Given the description of an element on the screen output the (x, y) to click on. 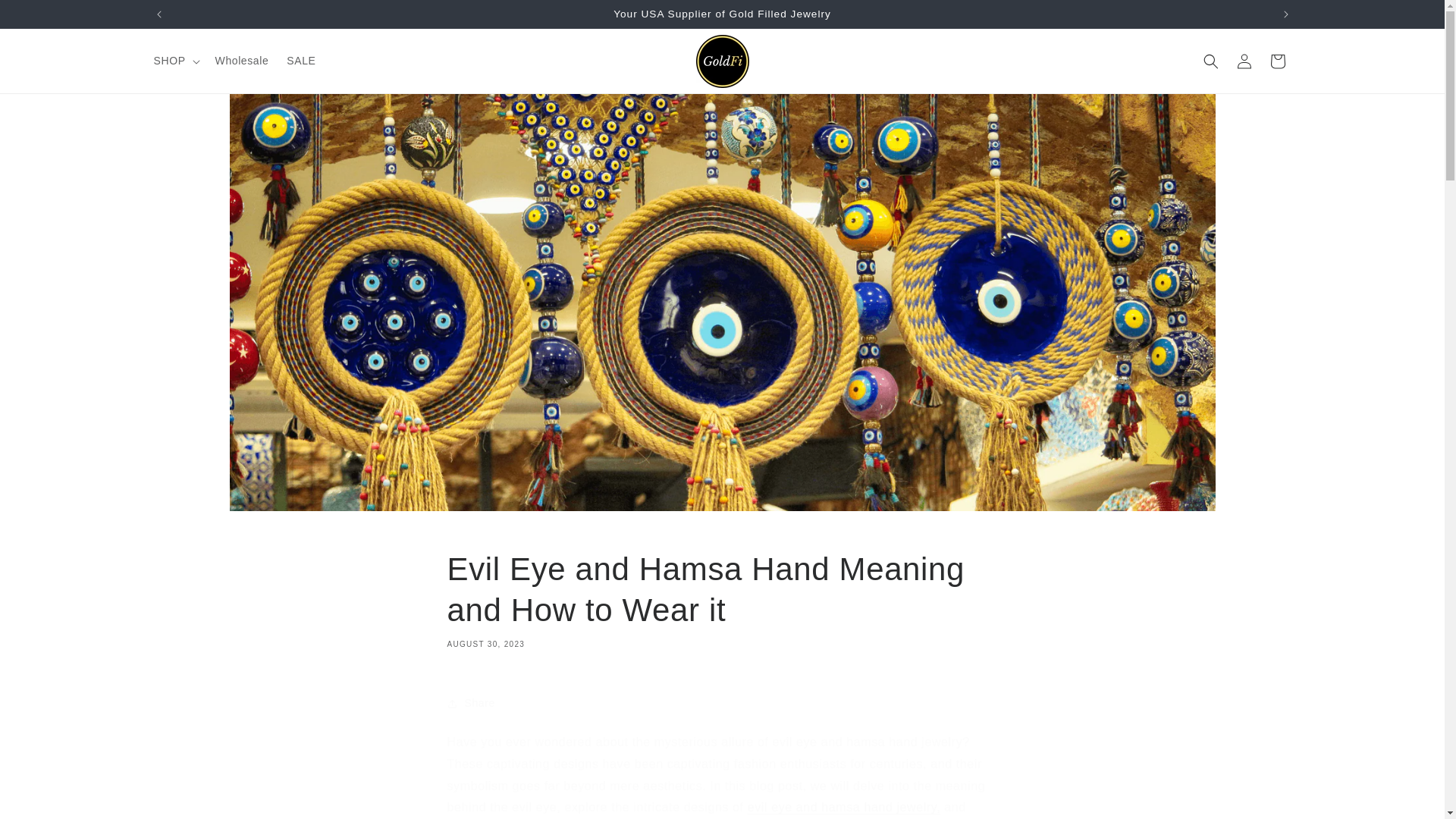
Share (721, 703)
Skip to content (45, 17)
